Given the description of an element on the screen output the (x, y) to click on. 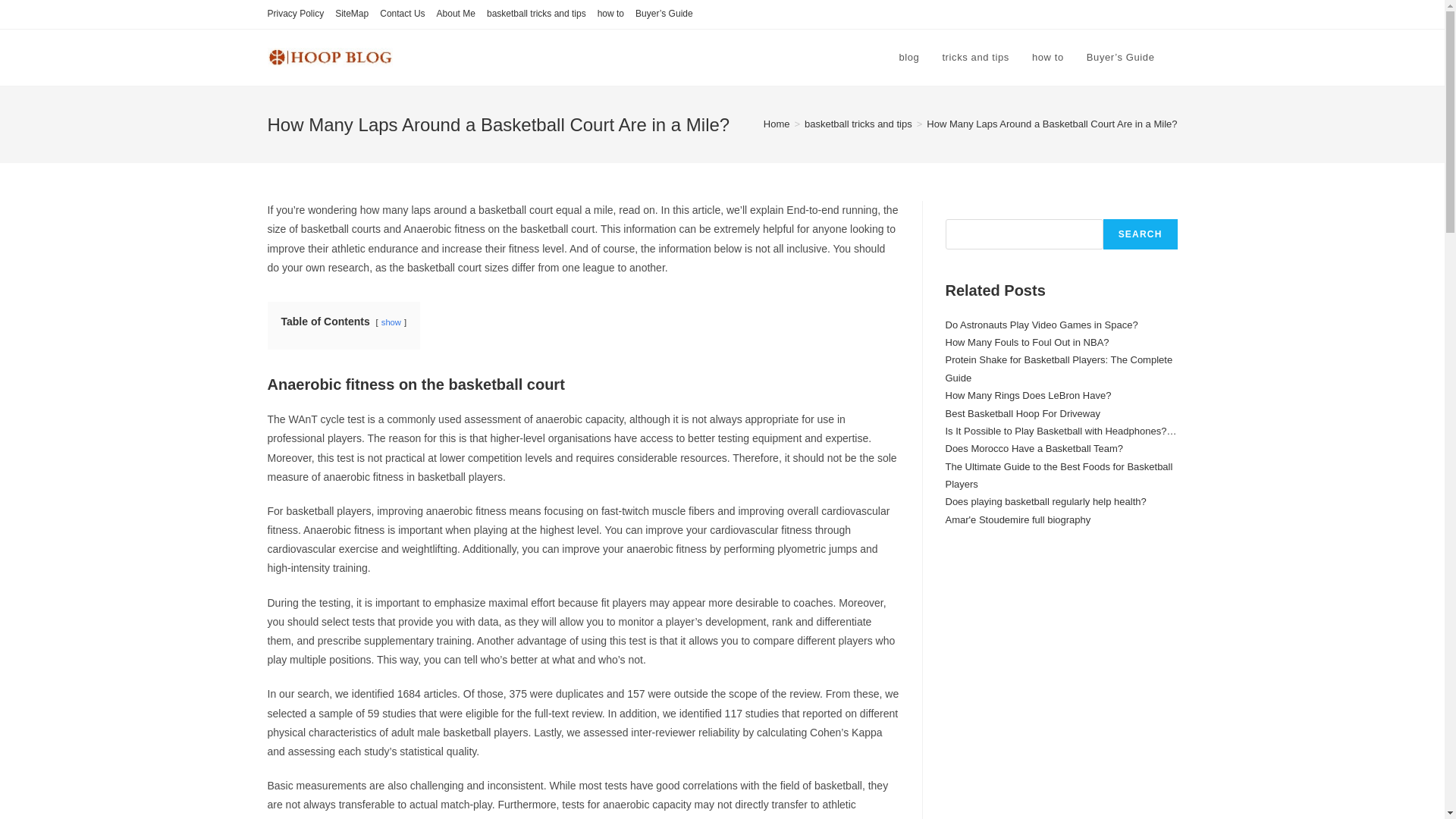
SiteMap (351, 13)
basketball tricks and tips (536, 13)
tricks and tips (975, 57)
Home (776, 123)
basketball tricks and tips (858, 123)
show (391, 321)
Contact Us (402, 13)
Privacy Policy (294, 13)
How Many Laps Around a Basketball Court Are in a Mile? (1051, 123)
how to (610, 13)
